Given the description of an element on the screen output the (x, y) to click on. 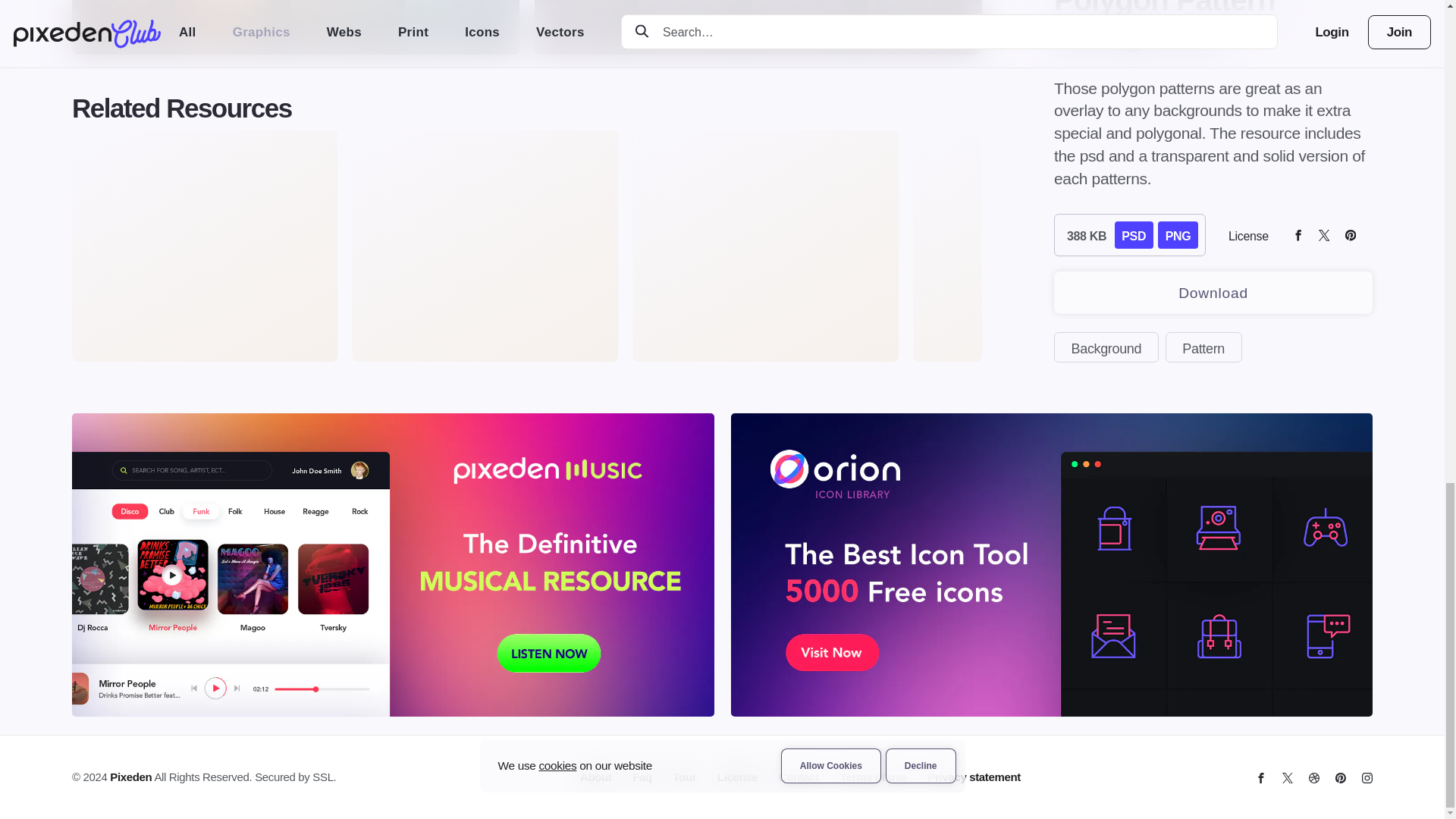
DribbbleA solid styled icon from Orion Icon Library. (1313, 777)
